Given the description of an element on the screen output the (x, y) to click on. 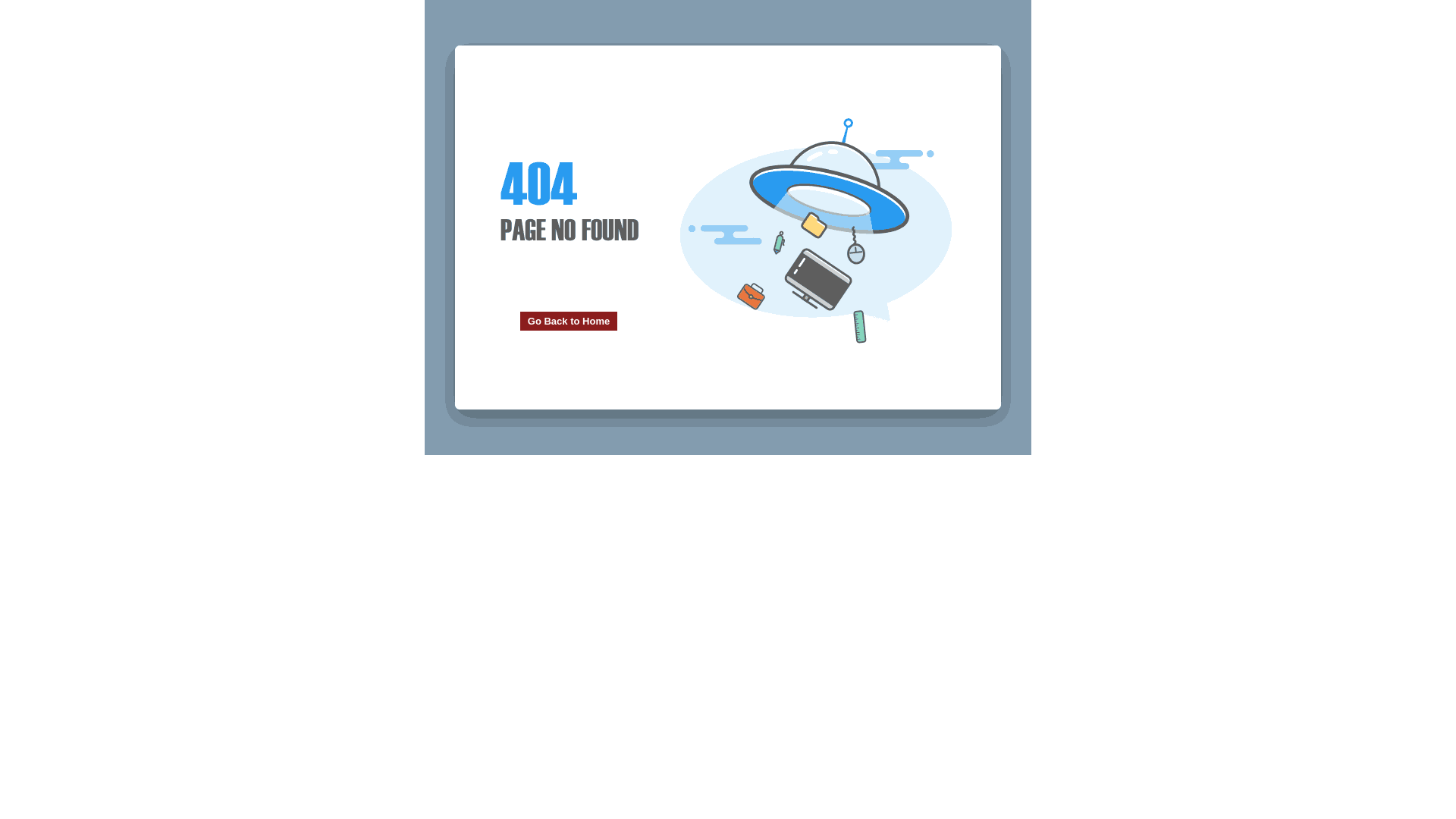
Go Back to Home Element type: text (568, 320)
